Given the description of an element on the screen output the (x, y) to click on. 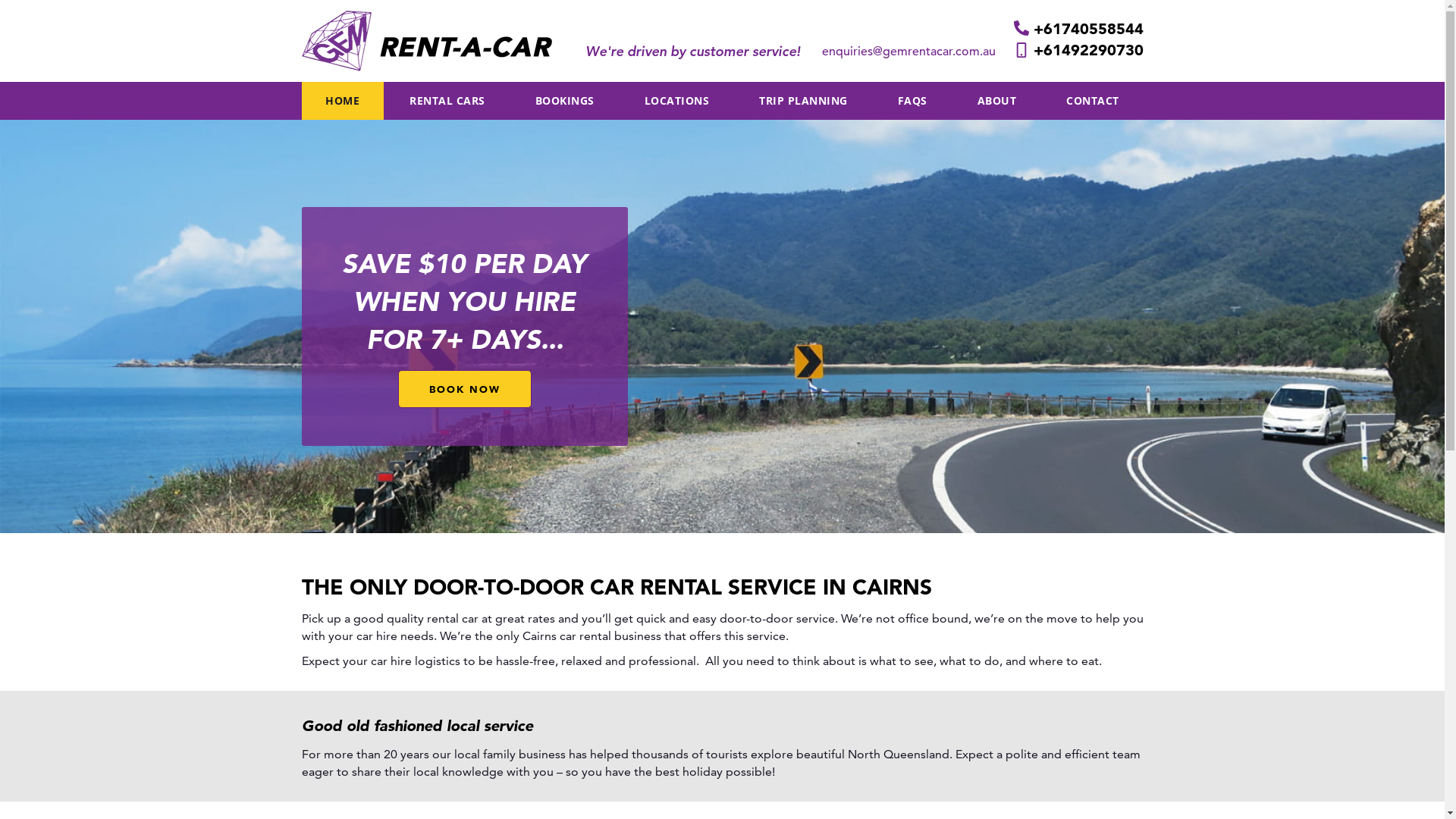
ABOUT Element type: text (996, 100)
HOME Element type: text (342, 100)
BOOKINGS Element type: text (564, 100)
FAQS Element type: text (912, 100)
enquiries@gemrentacar.com.au Element type: text (910, 51)
CONTACT Element type: text (1091, 100)
BOOK NOW Element type: text (463, 389)
+61492290730 Element type: text (1077, 49)
RENTAL CARS Element type: text (446, 100)
+61740558544 Element type: text (1077, 28)
LOCATIONS Element type: text (676, 100)
TRIP PLANNING Element type: text (802, 100)
